Given the description of an element on the screen output the (x, y) to click on. 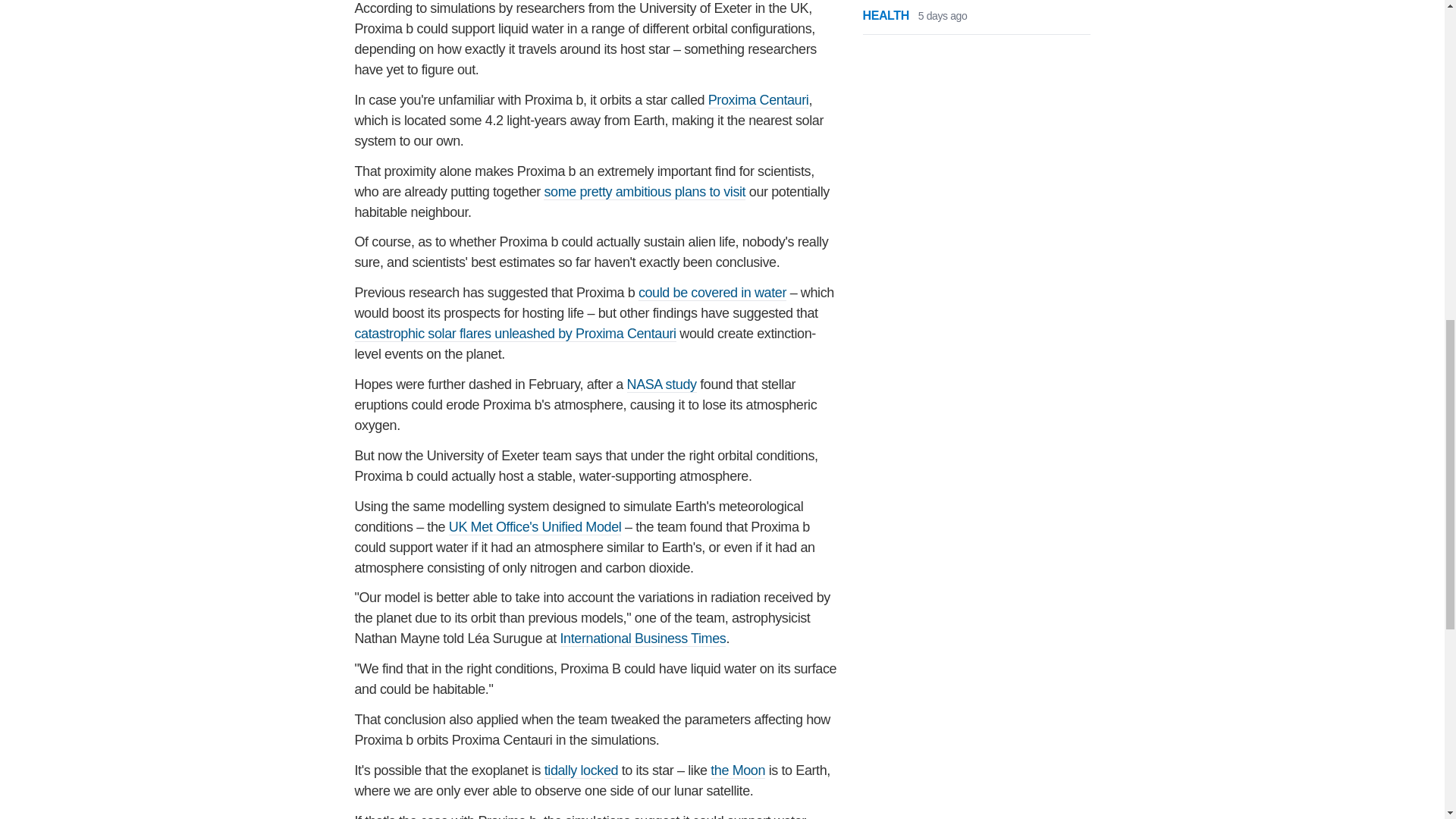
Proxima Centauri (758, 100)
some pretty ambitious plans to visit (644, 191)
could be covered in water (712, 293)
catastrophic solar flares unleashed by Proxima Centauri (516, 333)
NASA study (662, 384)
UK Met Office's Unified Model (534, 527)
